Given the description of an element on the screen output the (x, y) to click on. 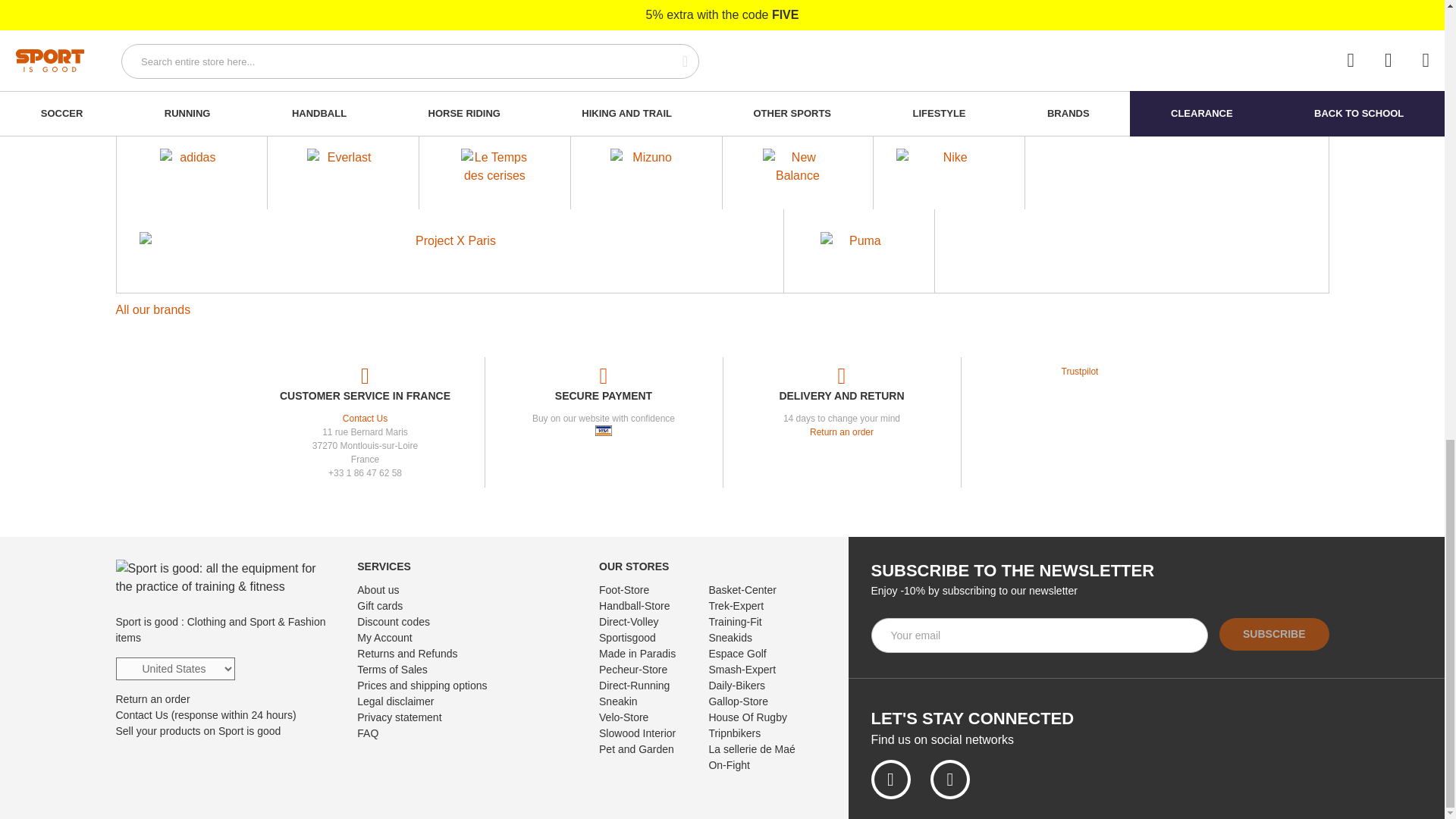
Subscribe (1273, 634)
Sign up for our newsletter (1039, 635)
